Given the description of an element on the screen output the (x, y) to click on. 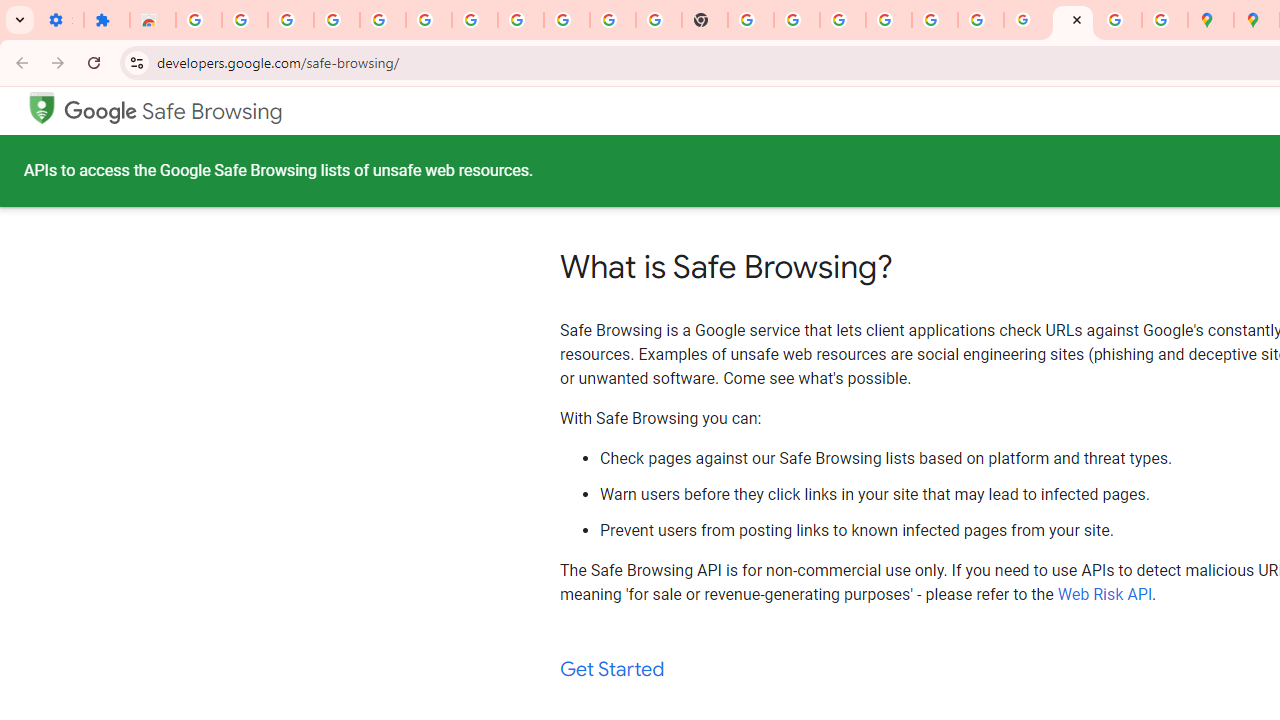
Web Risk API (1105, 594)
Get Started (612, 669)
Reviews: Helix Fruit Jump Arcade Game (153, 20)
Google (101, 111)
